Given the description of an element on the screen output the (x, y) to click on. 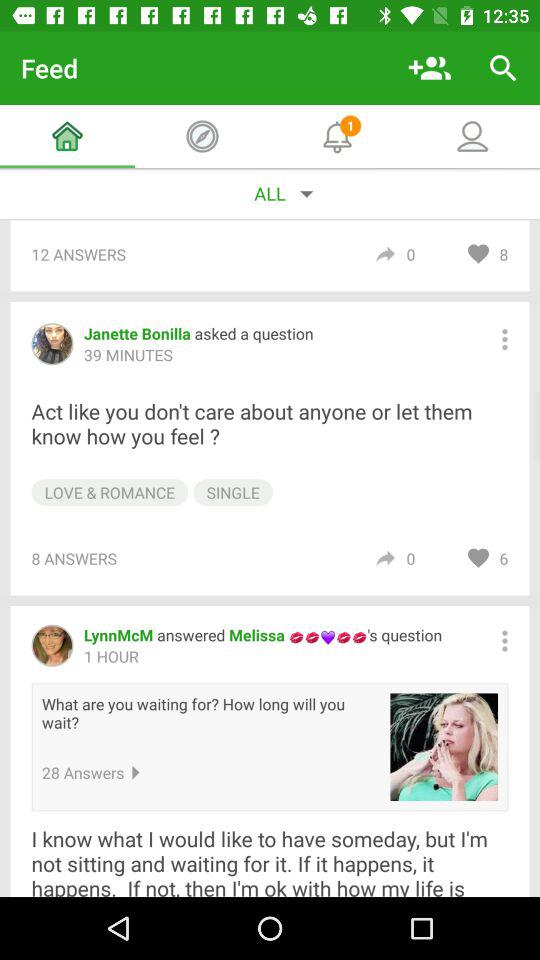
profile picture (444, 747)
